Given the description of an element on the screen output the (x, y) to click on. 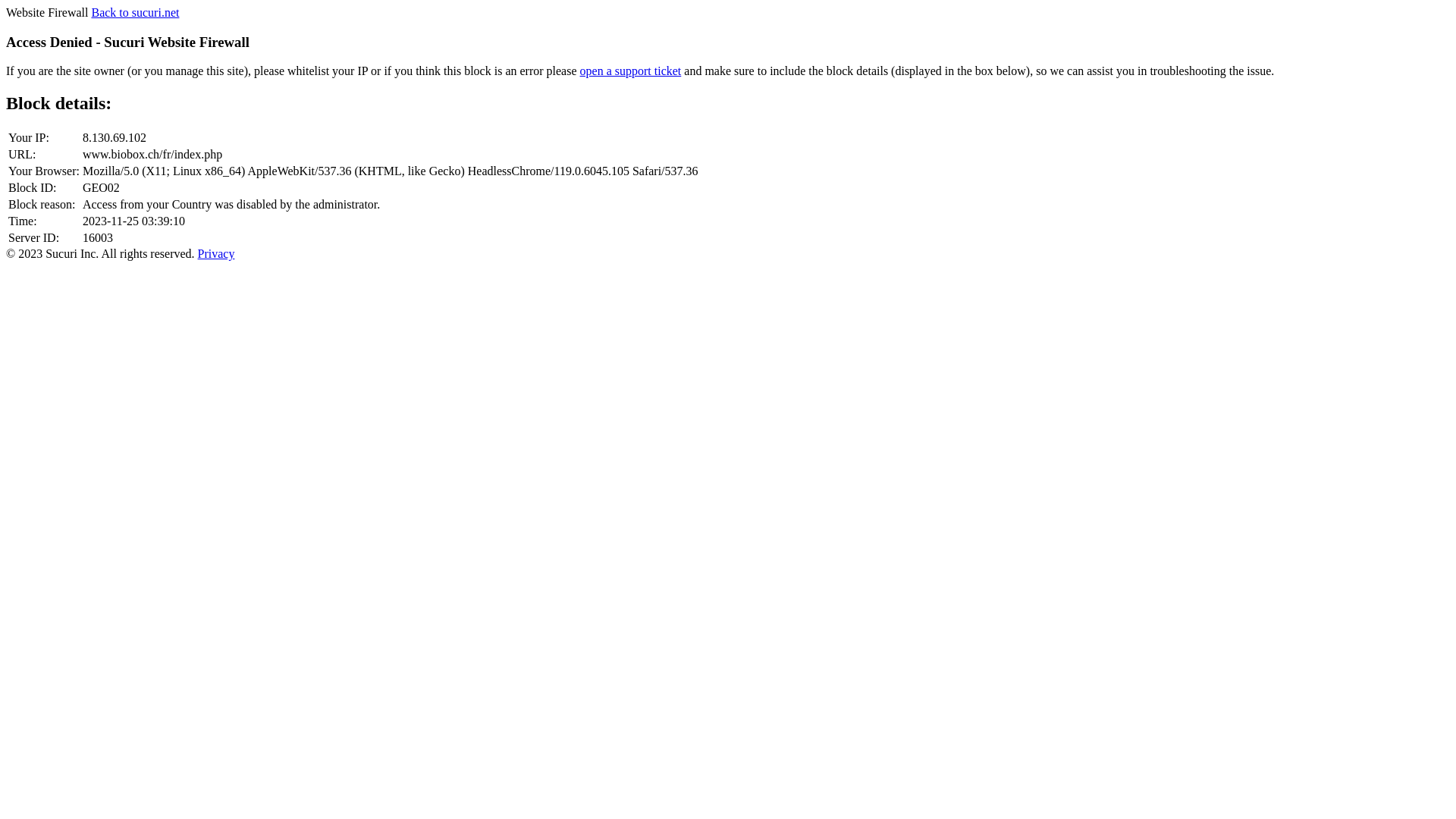
Back to sucuri.net Element type: text (134, 12)
Privacy Element type: text (216, 253)
open a support ticket Element type: text (630, 70)
